Given the description of an element on the screen output the (x, y) to click on. 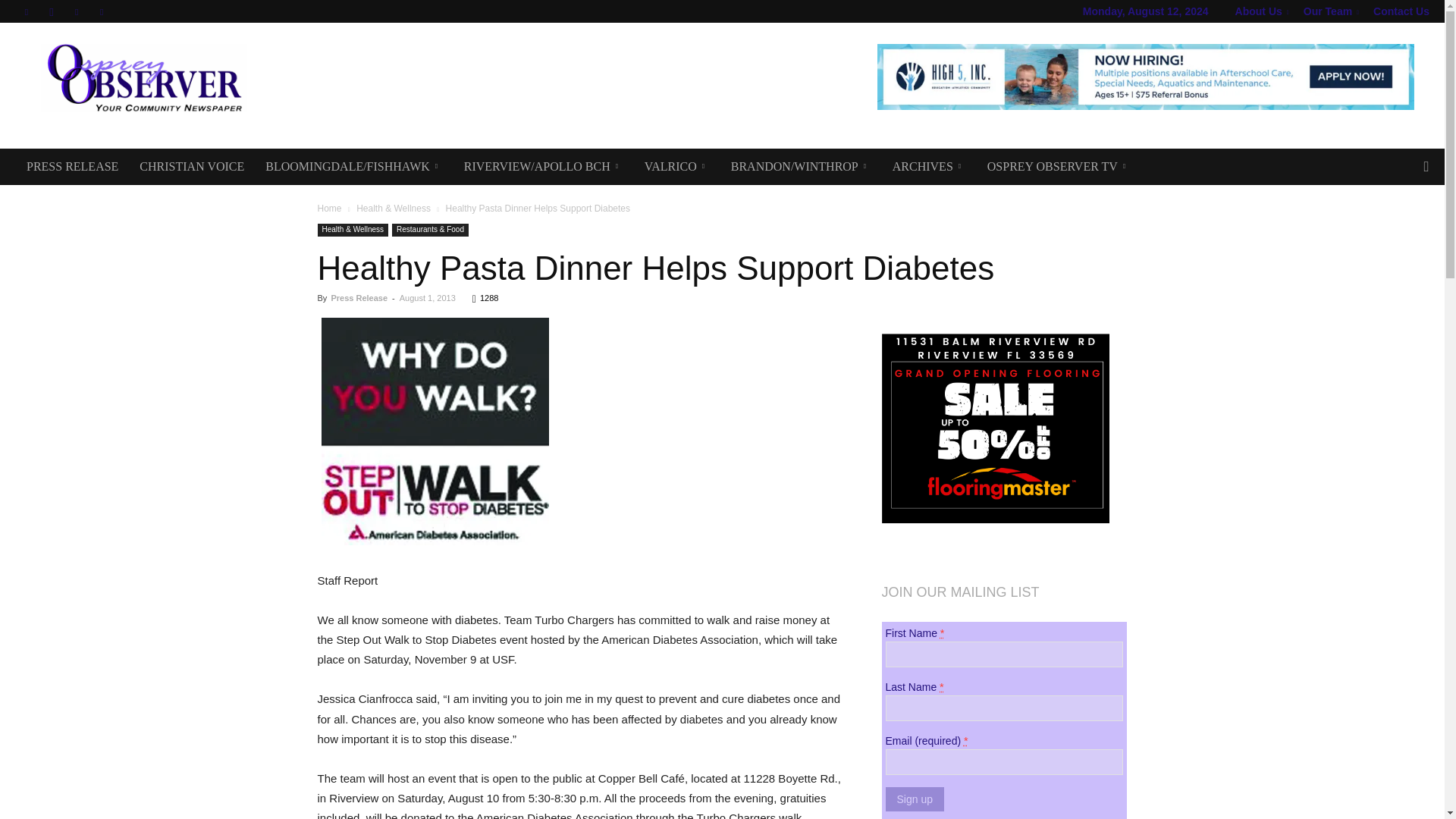
Twitter (76, 11)
Sign up (914, 799)
About Us (1261, 10)
Facebook (25, 11)
Instagram (51, 11)
Youtube (101, 11)
Our Team (1330, 10)
